Given the description of an element on the screen output the (x, y) to click on. 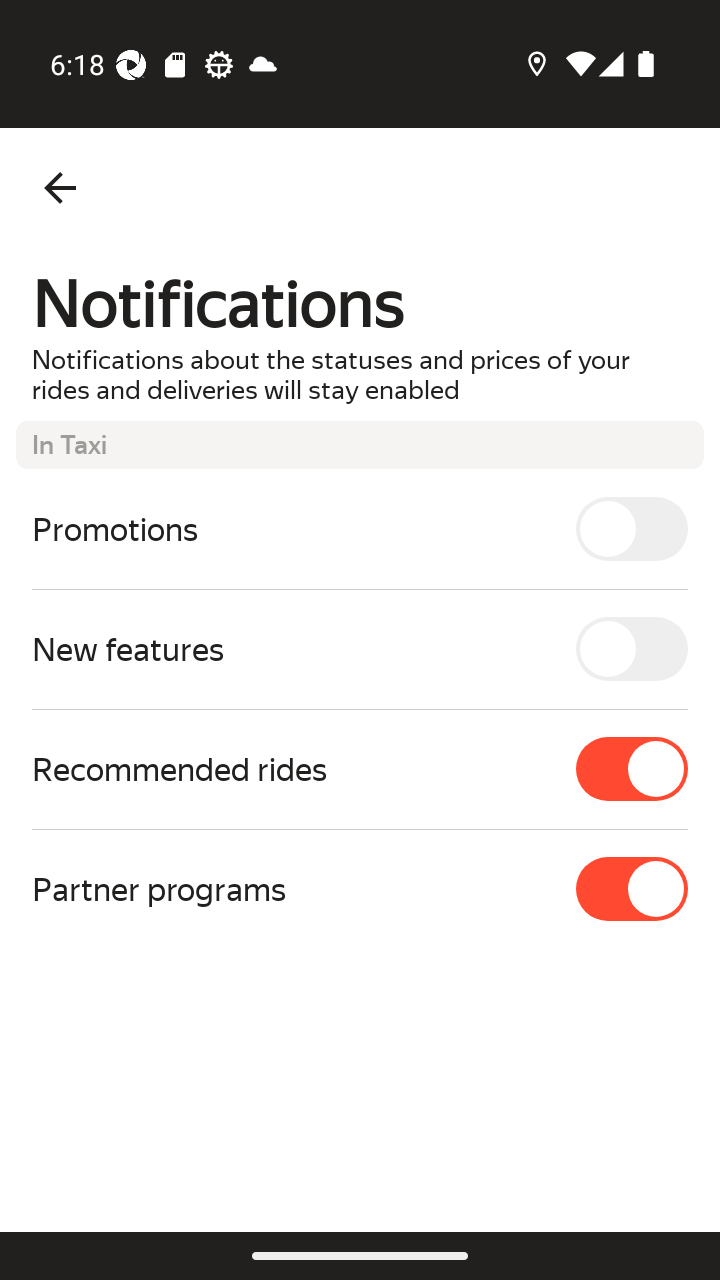
Back (60, 188)
Promotions (360, 528)
New features (360, 648)
Recommended rides (360, 769)
Partner programs (360, 888)
